Given the description of an element on the screen output the (x, y) to click on. 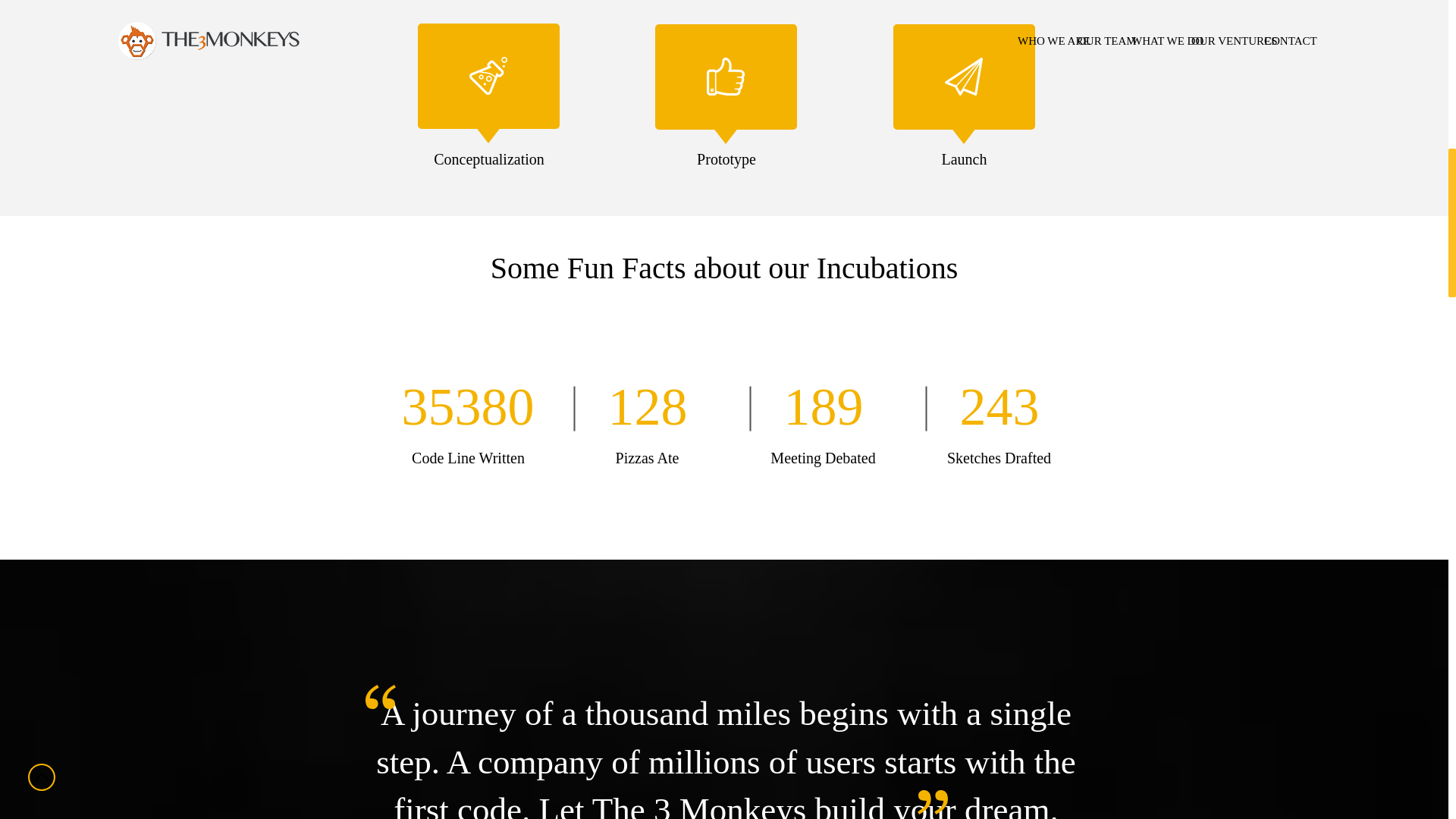
lab.png (487, 75)
thumb.png (725, 76)
fly.png (963, 76)
